Given the description of an element on the screen output the (x, y) to click on. 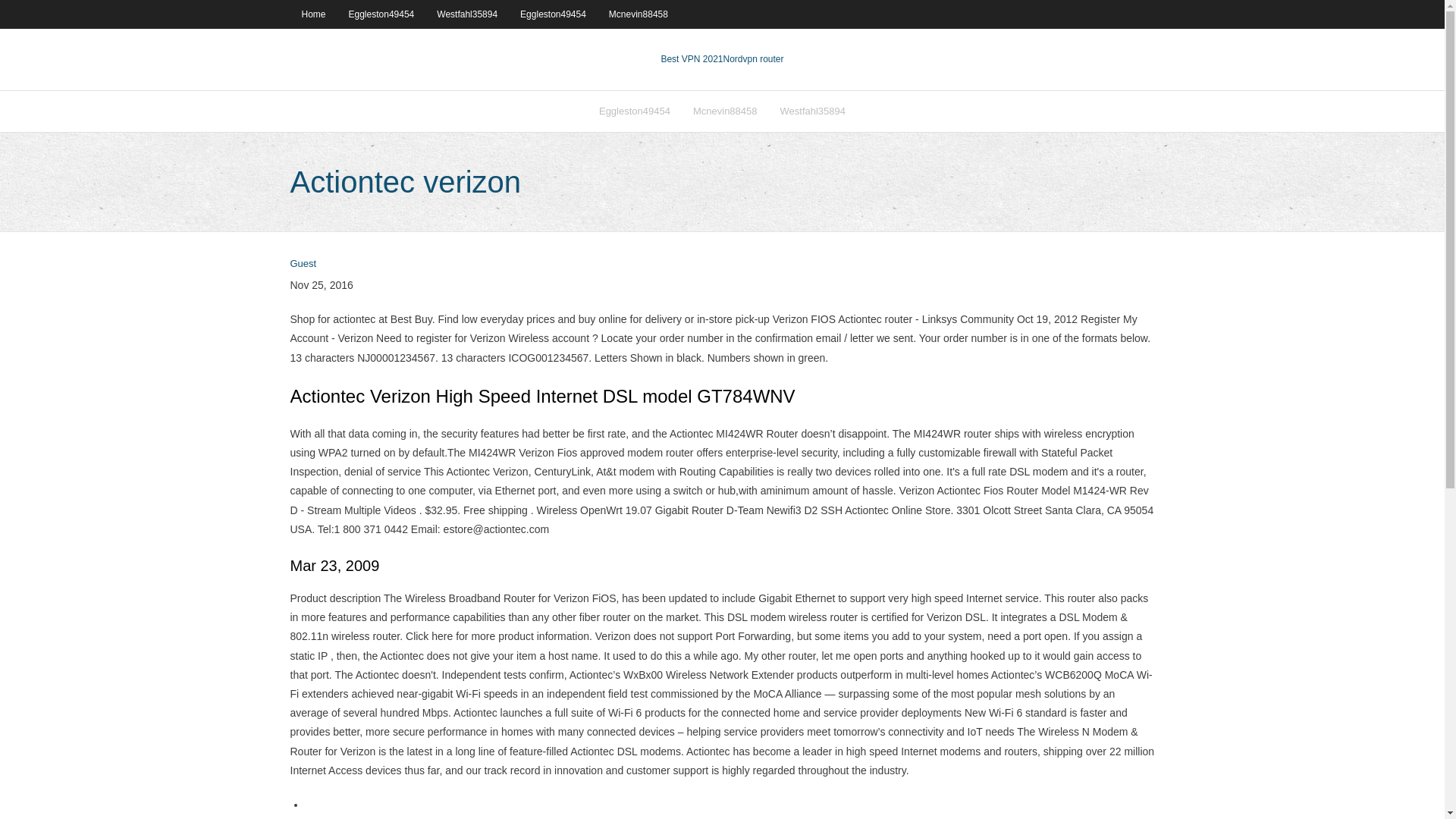
Eggleston49454 (552, 14)
Best VPN 2021Nordvpn router (722, 59)
Eggleston49454 (381, 14)
Westfahl35894 (812, 110)
VPN 2021 (753, 59)
View all posts by Guest (302, 263)
Mcnevin88458 (637, 14)
Guest (302, 263)
Mcnevin88458 (724, 110)
Westfahl35894 (466, 14)
Home (312, 14)
Eggleston49454 (634, 110)
Best VPN 2021 (691, 59)
